Given the description of an element on the screen output the (x, y) to click on. 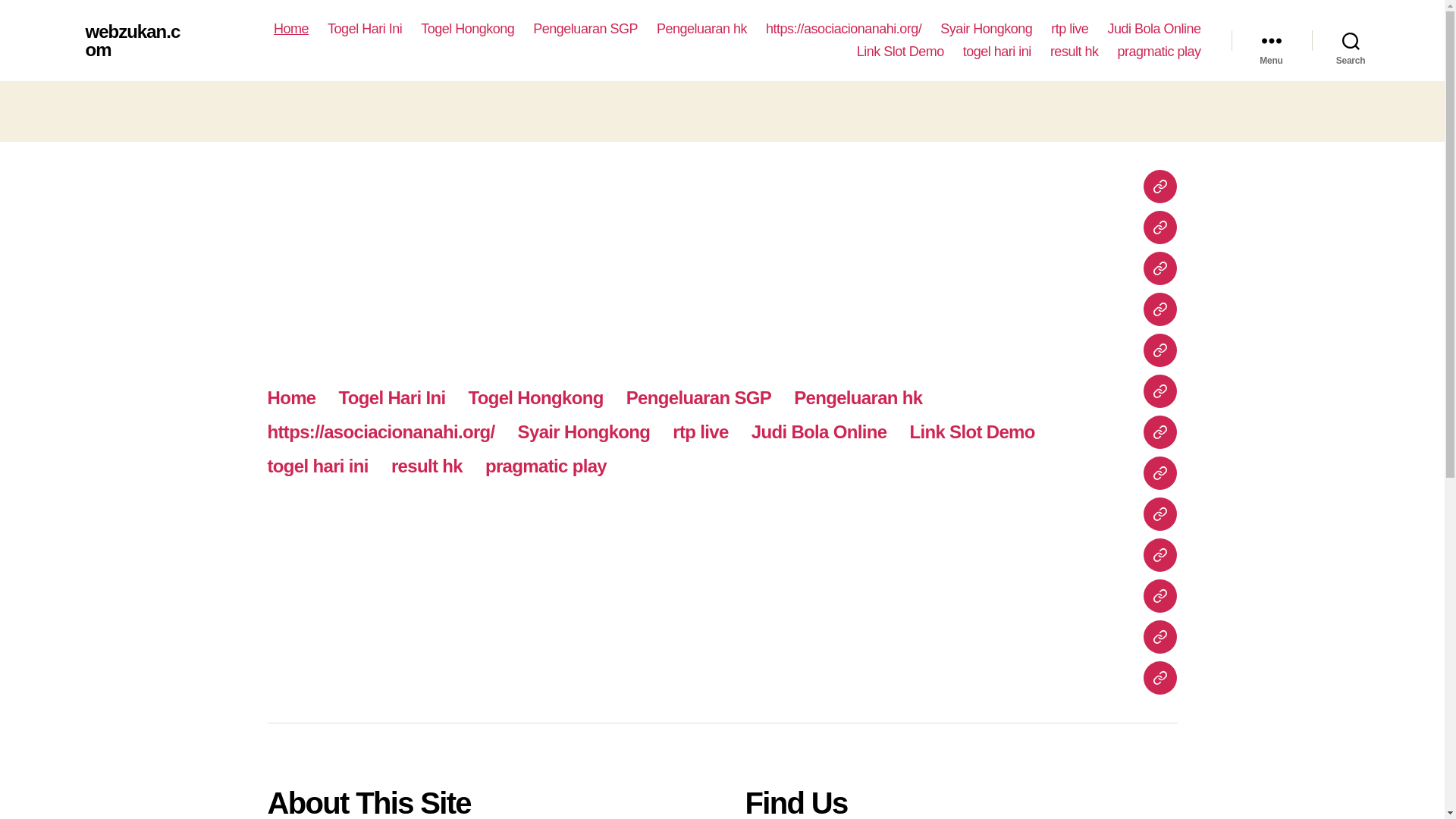
Pengeluaran SGP (584, 29)
Menu (1271, 40)
Home (290, 29)
Search (1350, 40)
pragmatic play (1157, 52)
Syair Hongkong (986, 29)
togel hari ini (996, 52)
Judi Bola Online (1152, 29)
Pengeluaran hk (701, 29)
result hk (1074, 52)
